Given the description of an element on the screen output the (x, y) to click on. 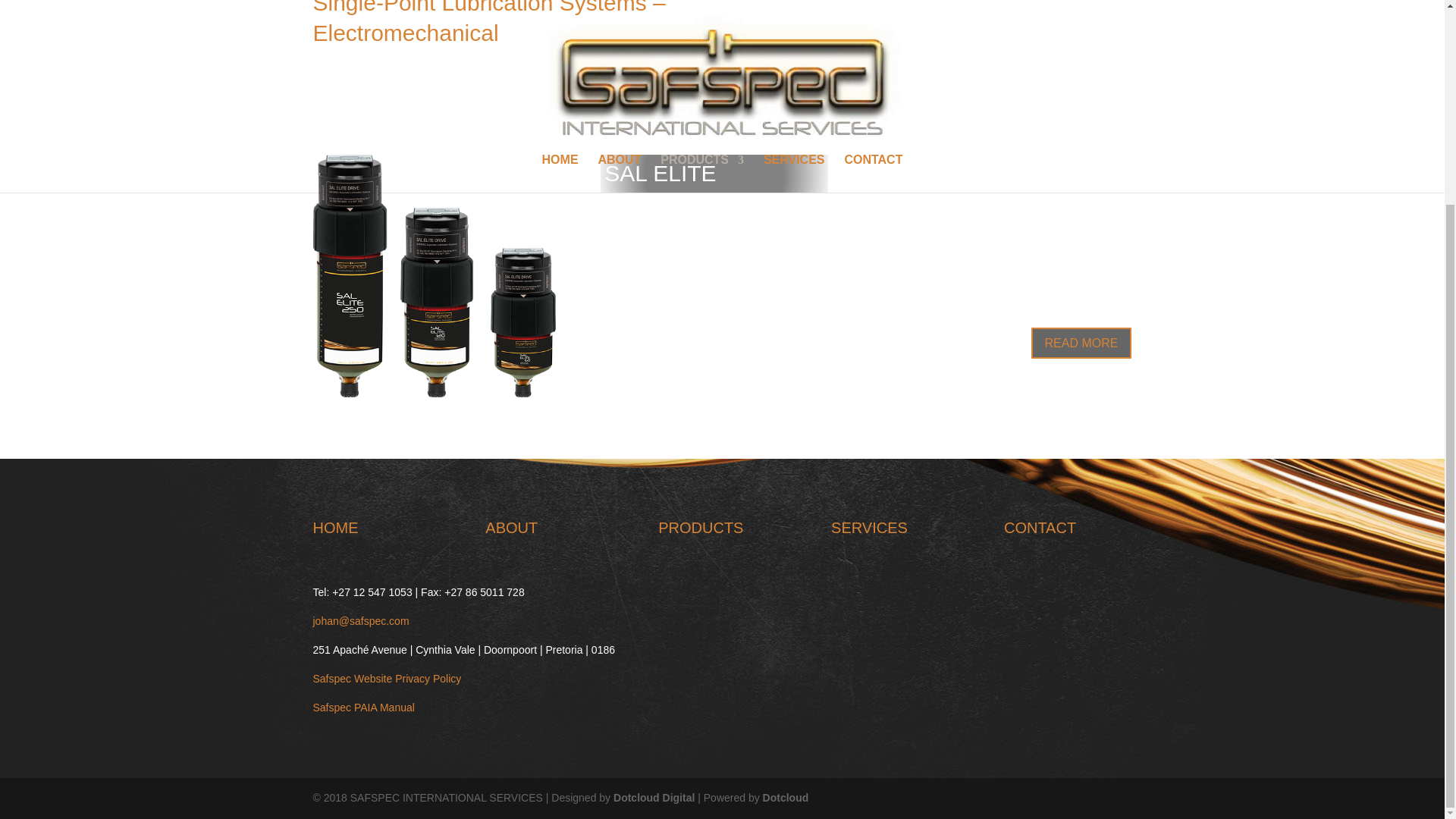
ABOUT (510, 527)
Dotcloud Digital (653, 797)
Safspec Website Privacy Policy (387, 678)
Dotcloud (785, 797)
SERVICES (869, 527)
HOME (335, 527)
READ MORE (1081, 342)
Safspec PAIA Manual (363, 707)
CONTACT (1039, 527)
PRODUCTS (700, 527)
